Given the description of an element on the screen output the (x, y) to click on. 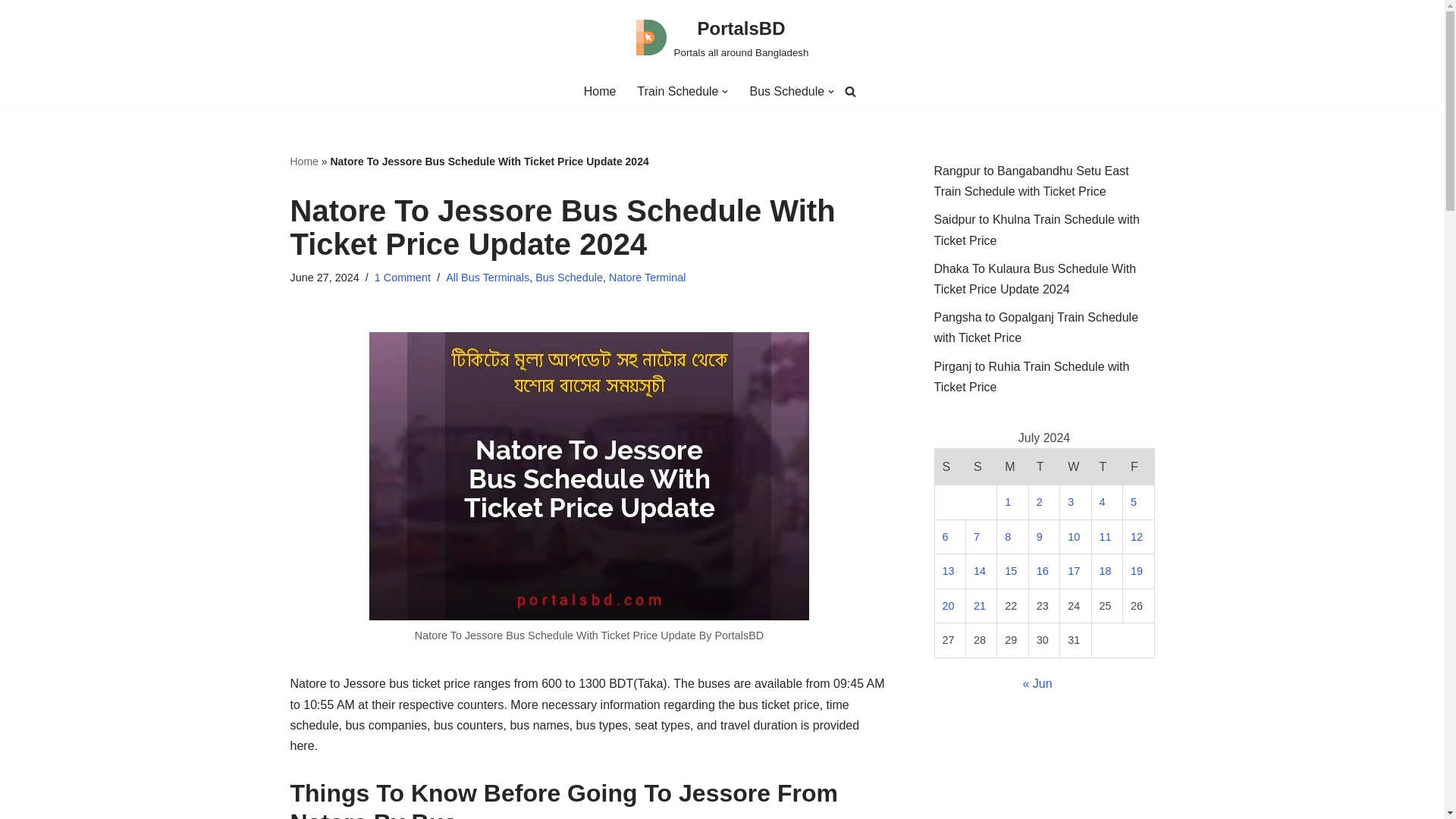
Home (599, 91)
Bus Schedule (786, 91)
Skip to content (11, 31)
Train Schedule (677, 91)
